Given the description of an element on the screen output the (x, y) to click on. 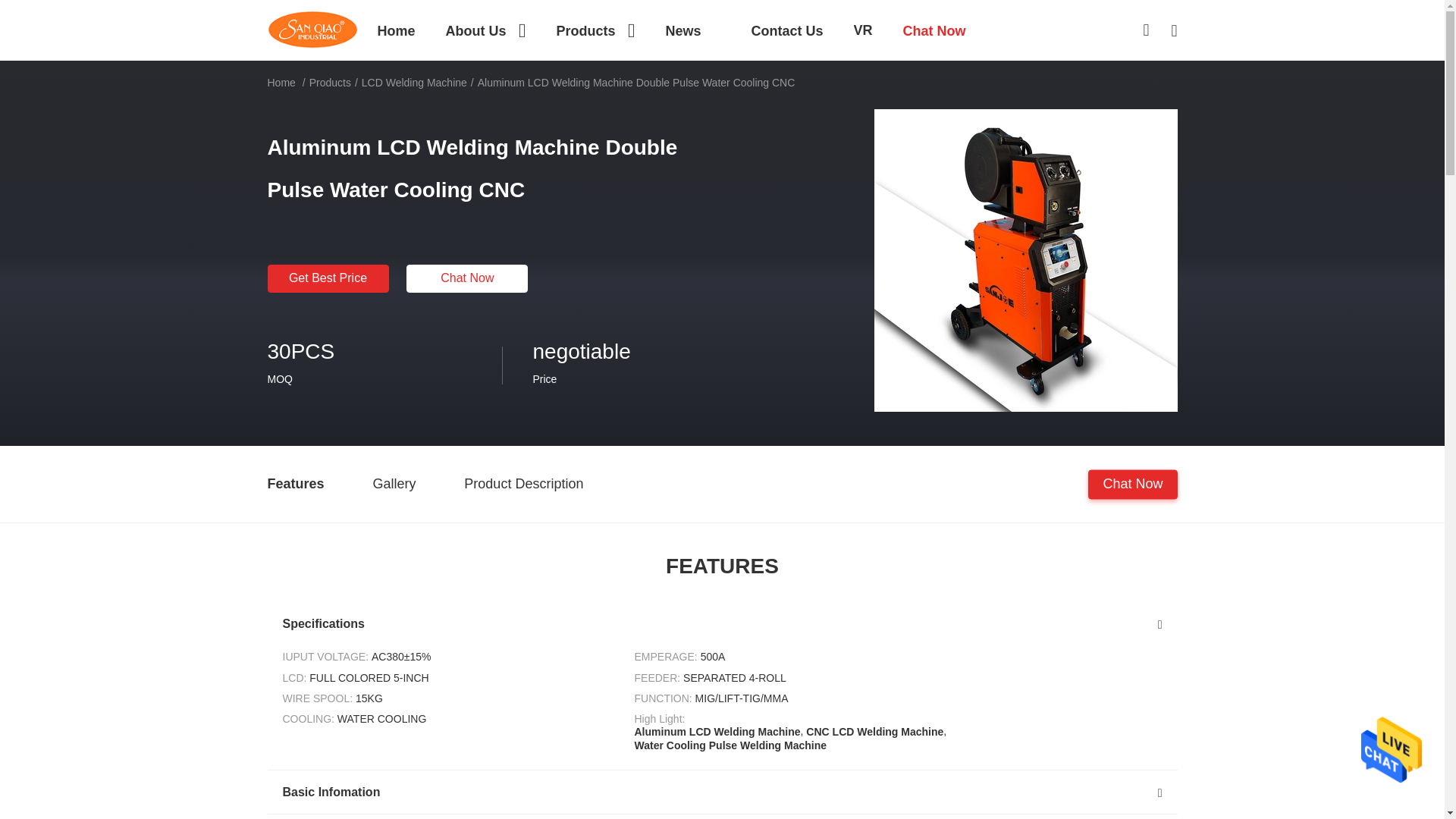
About Us (485, 30)
Products (595, 30)
Products (595, 30)
About Us (485, 30)
Foshan Sanqiao Welding Industry Co., Ltd. (311, 28)
